Given the description of an element on the screen output the (x, y) to click on. 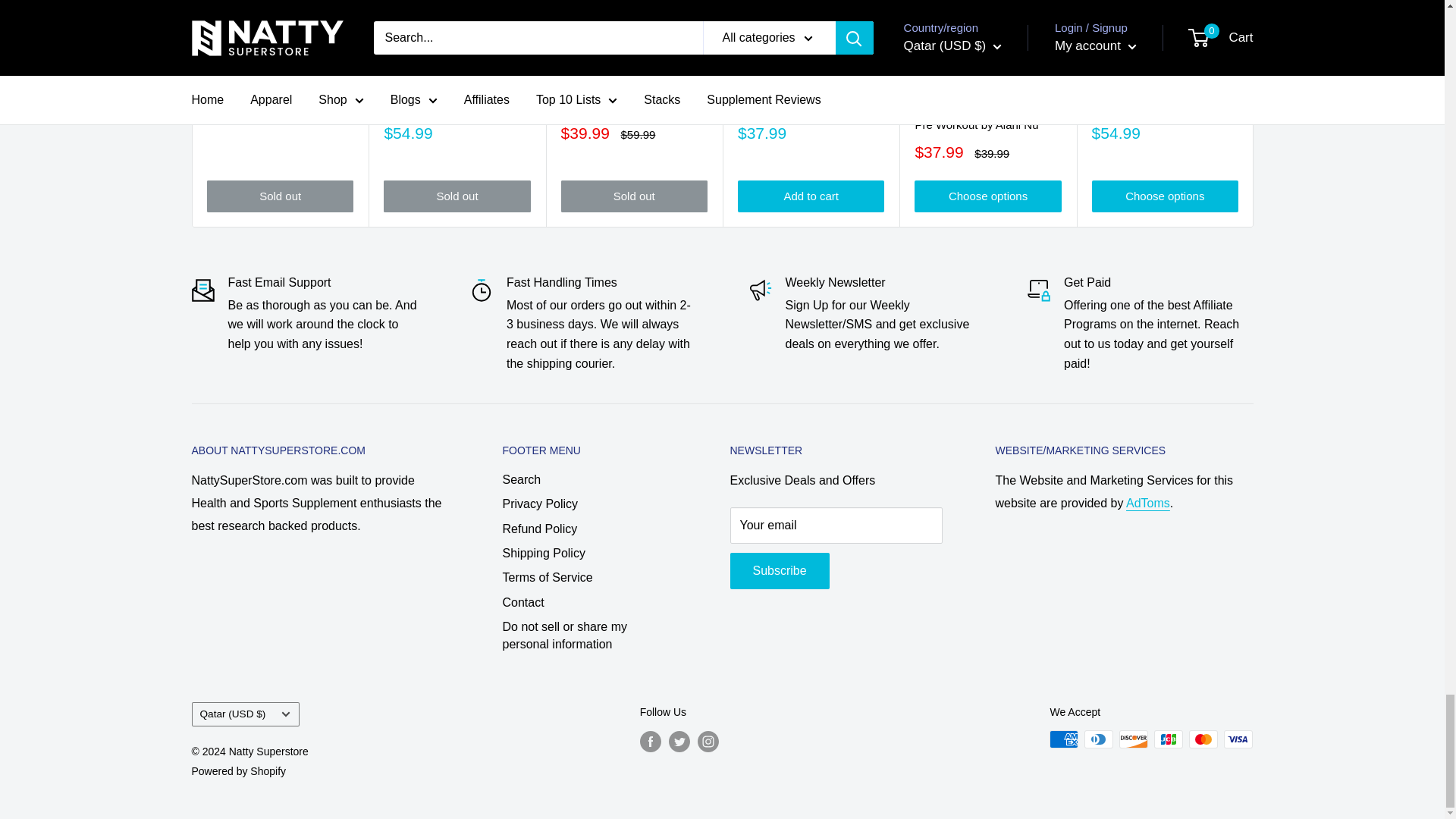
AdToms (1147, 502)
